Given the description of an element on the screen output the (x, y) to click on. 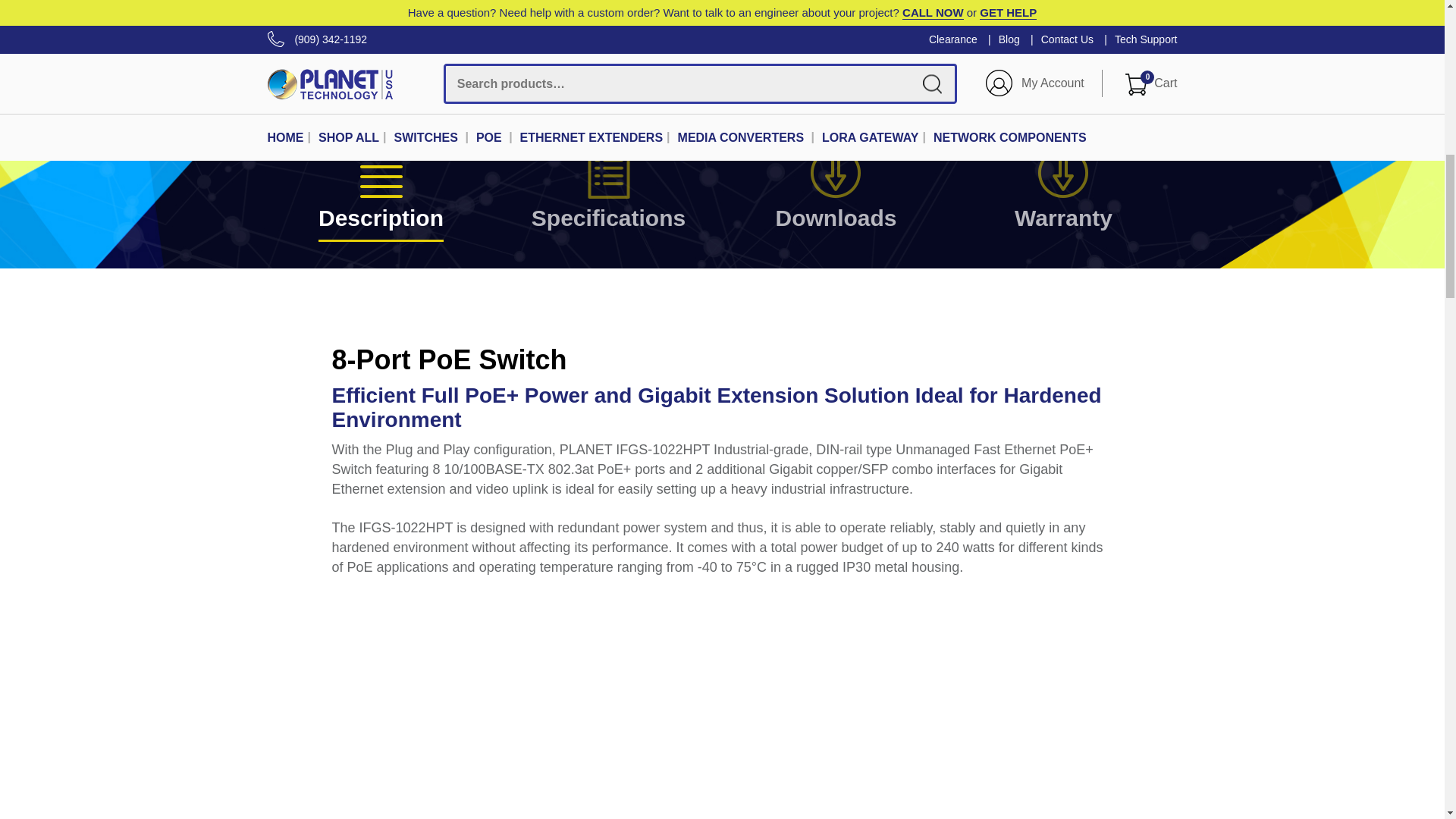
Qty (764, 69)
1 (764, 69)
- (809, 81)
